Given the description of an element on the screen output the (x, y) to click on. 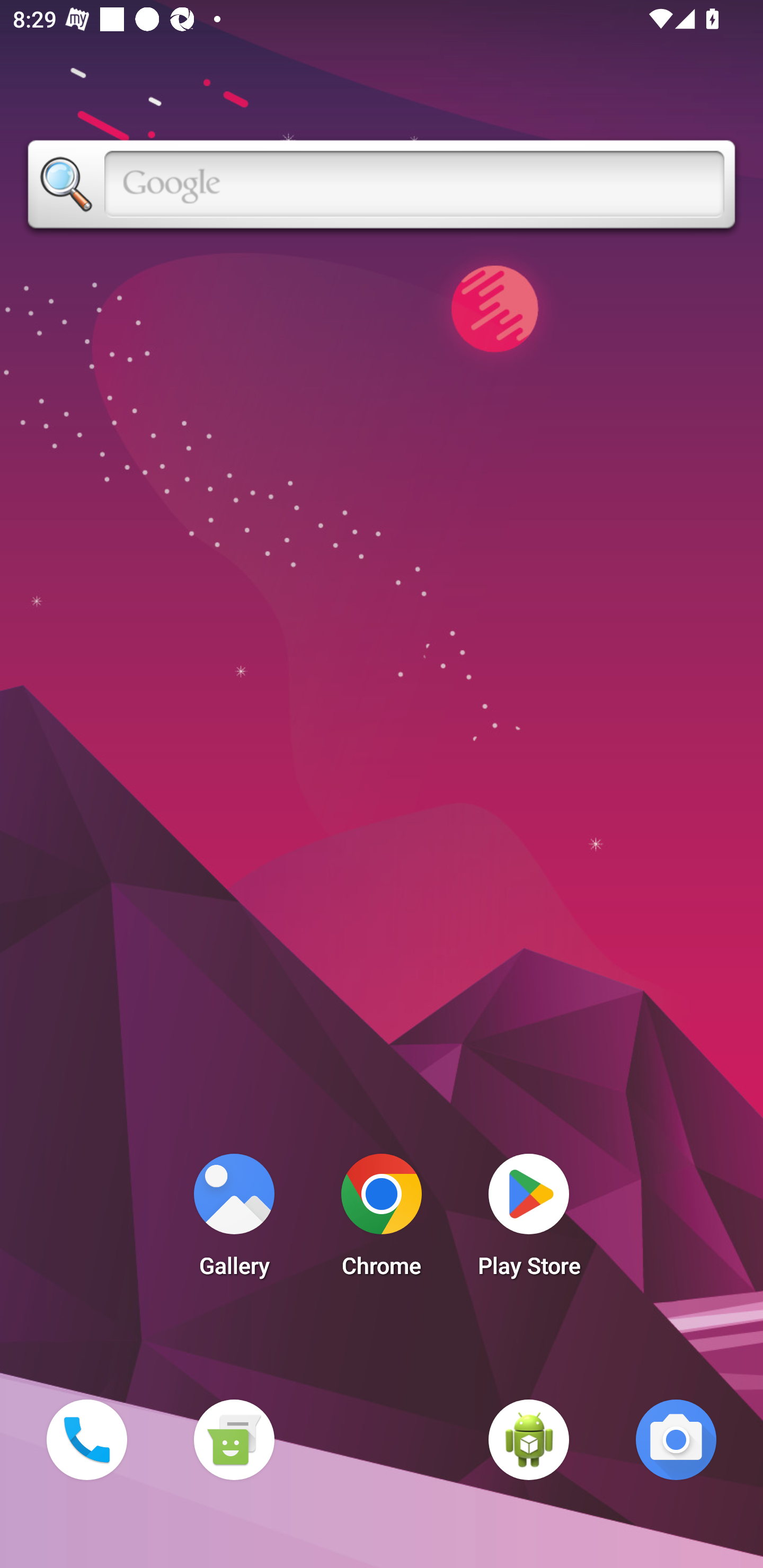
Gallery (233, 1220)
Chrome (381, 1220)
Play Store (528, 1220)
Phone (86, 1439)
Messaging (233, 1439)
WebView Browser Tester (528, 1439)
Camera (676, 1439)
